Given the description of an element on the screen output the (x, y) to click on. 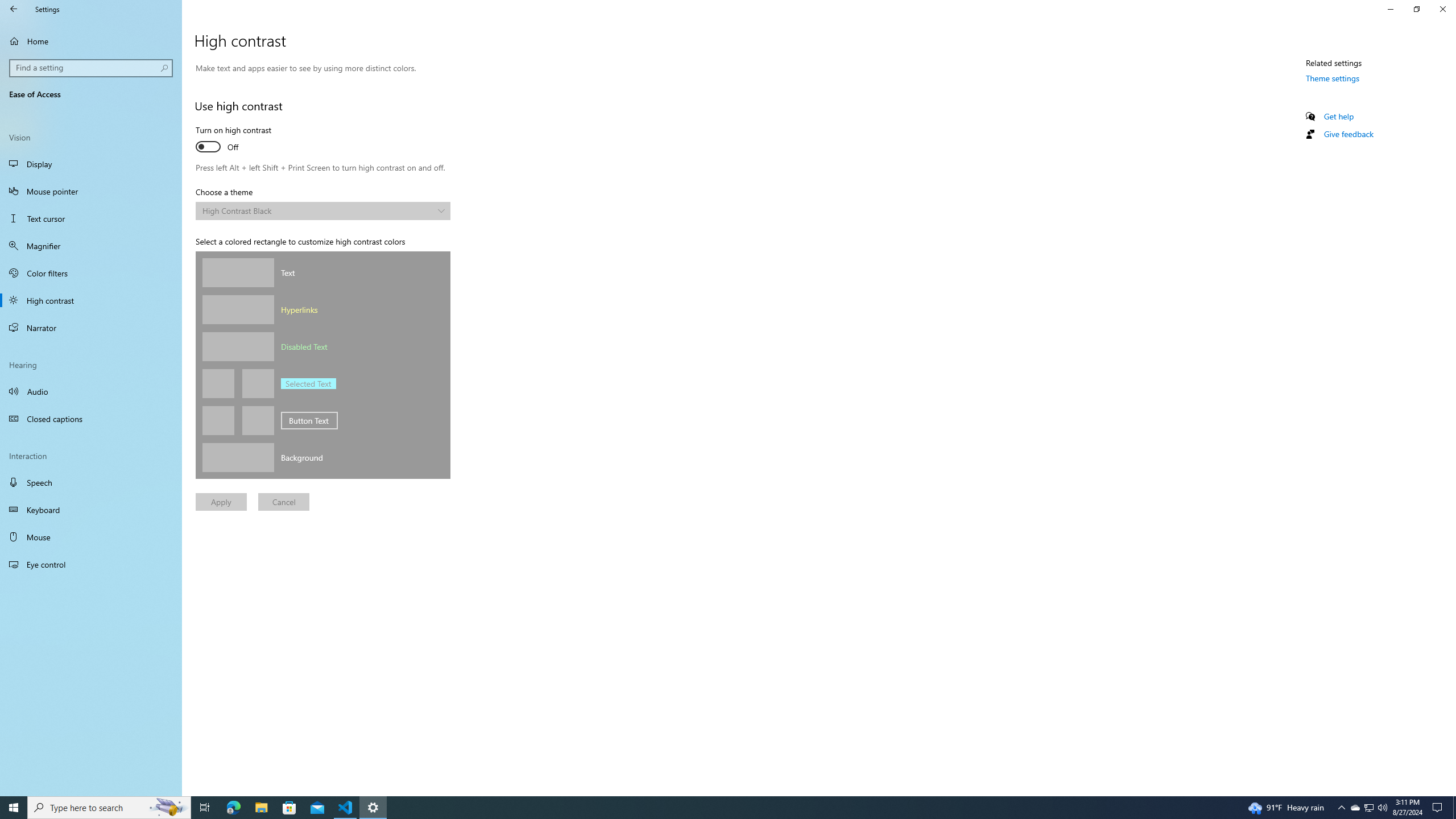
Selected text color (218, 383)
File Explorer (261, 807)
Running applications (717, 807)
Show desktop (1454, 807)
High contrast (91, 299)
Selected text background color (257, 383)
High Contrast Black (317, 210)
Get help (1368, 807)
